Given the description of an element on the screen output the (x, y) to click on. 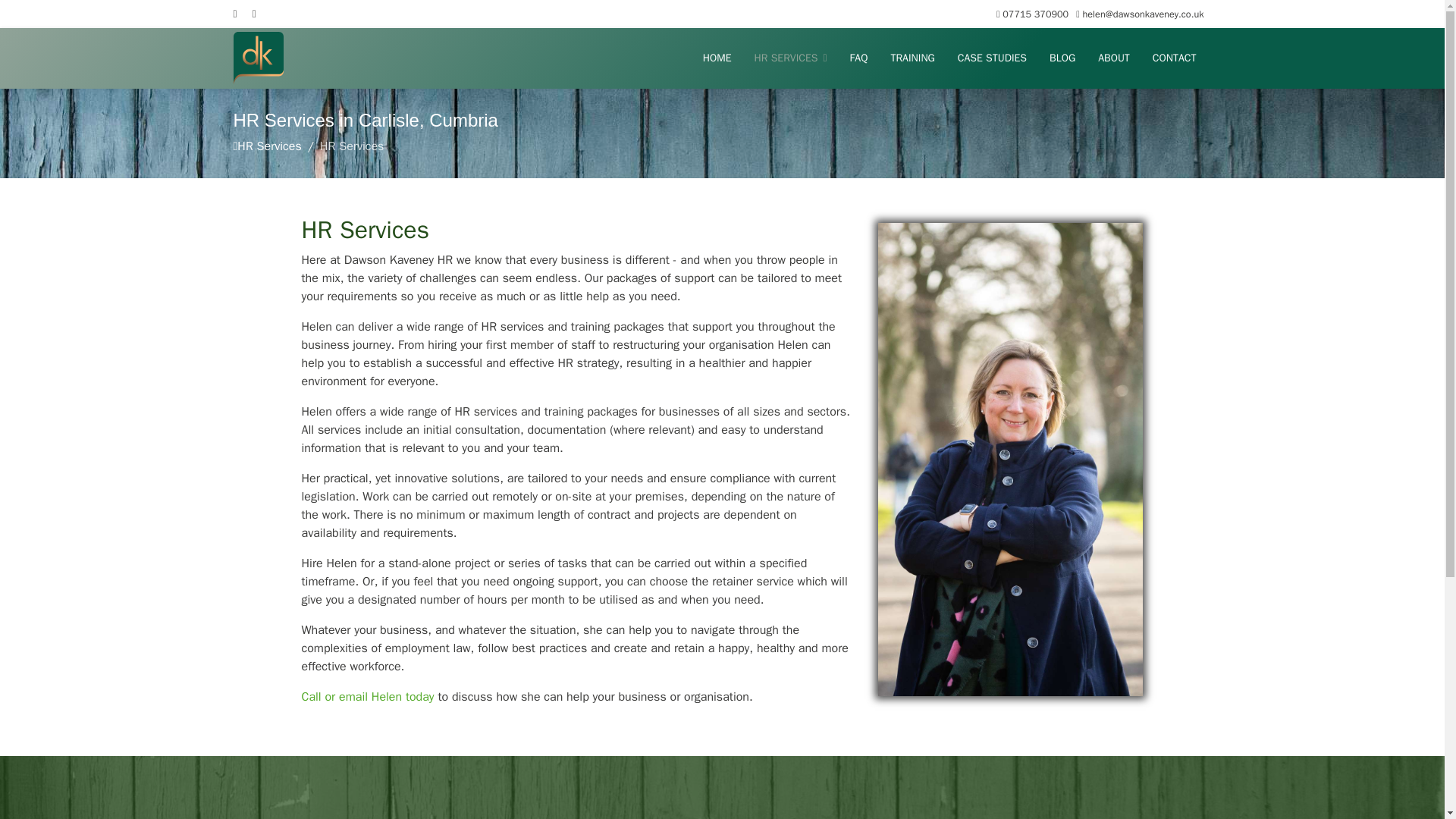
HR SERVICES (790, 57)
HR Services (269, 145)
CONTACT (1174, 57)
ABOUT (1113, 57)
Call or email Helen today (367, 696)
CASE STUDIES (992, 57)
07715 370900 (1035, 14)
TRAINING (911, 57)
